Given the description of an element on the screen output the (x, y) to click on. 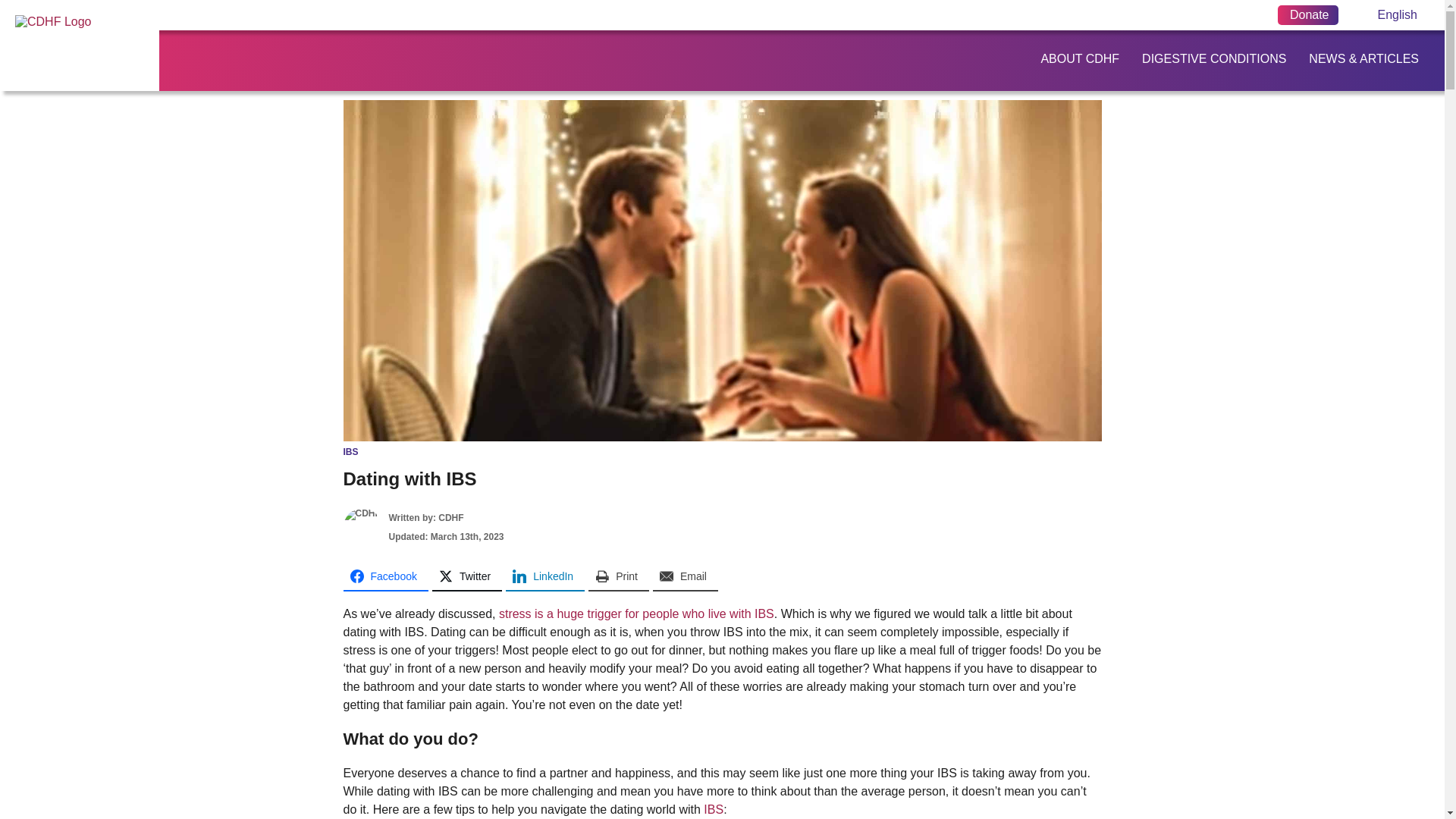
DIGESTIVE CONDITIONS (1210, 59)
ABOUT CDHF (1075, 59)
Share on LinkedIn (545, 576)
Share on Twitter (467, 576)
Share on Facebook (385, 576)
Share on Email (684, 576)
Share on Print (618, 576)
